Given the description of an element on the screen output the (x, y) to click on. 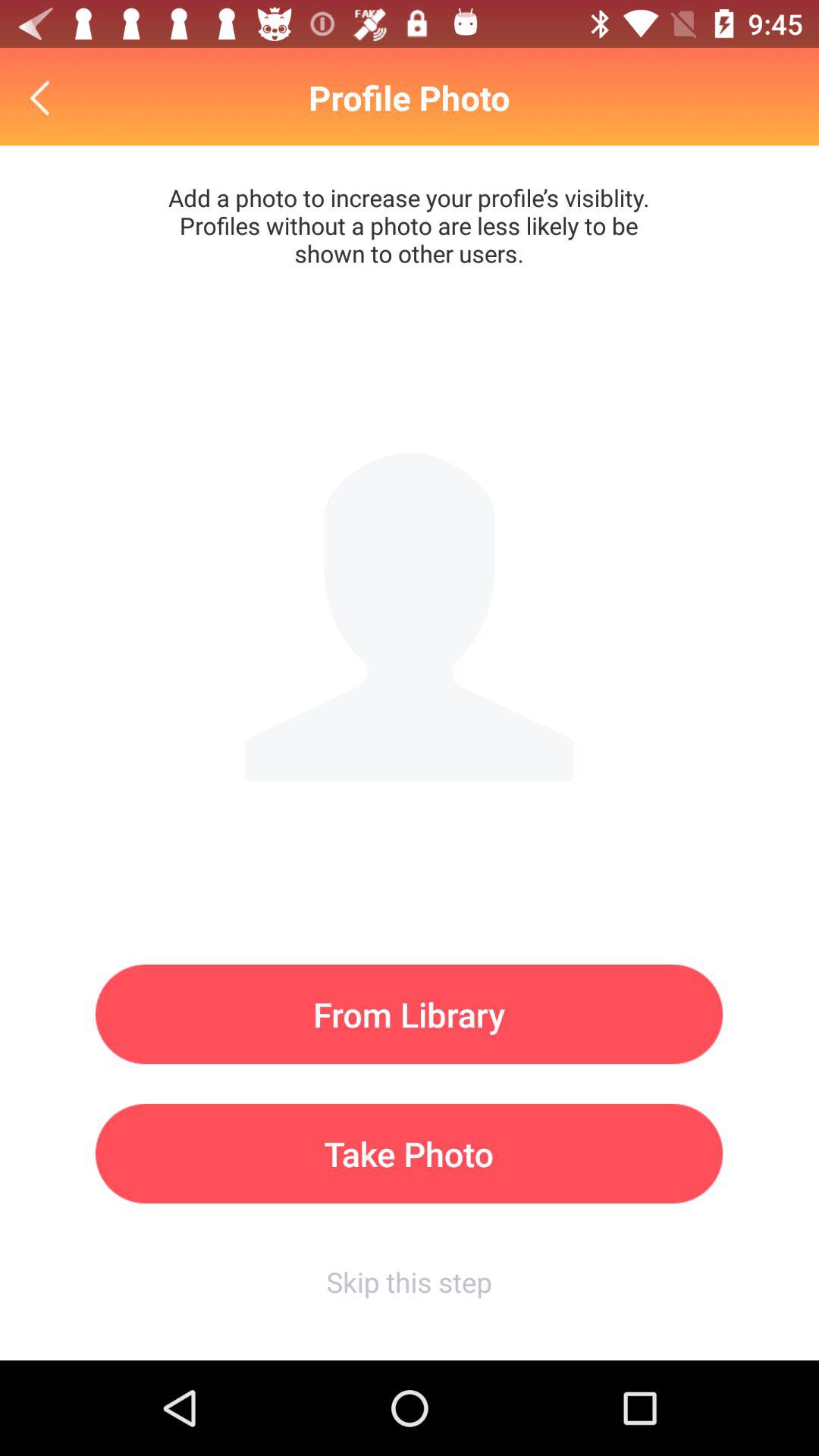
tap from library icon (408, 1014)
